Given the description of an element on the screen output the (x, y) to click on. 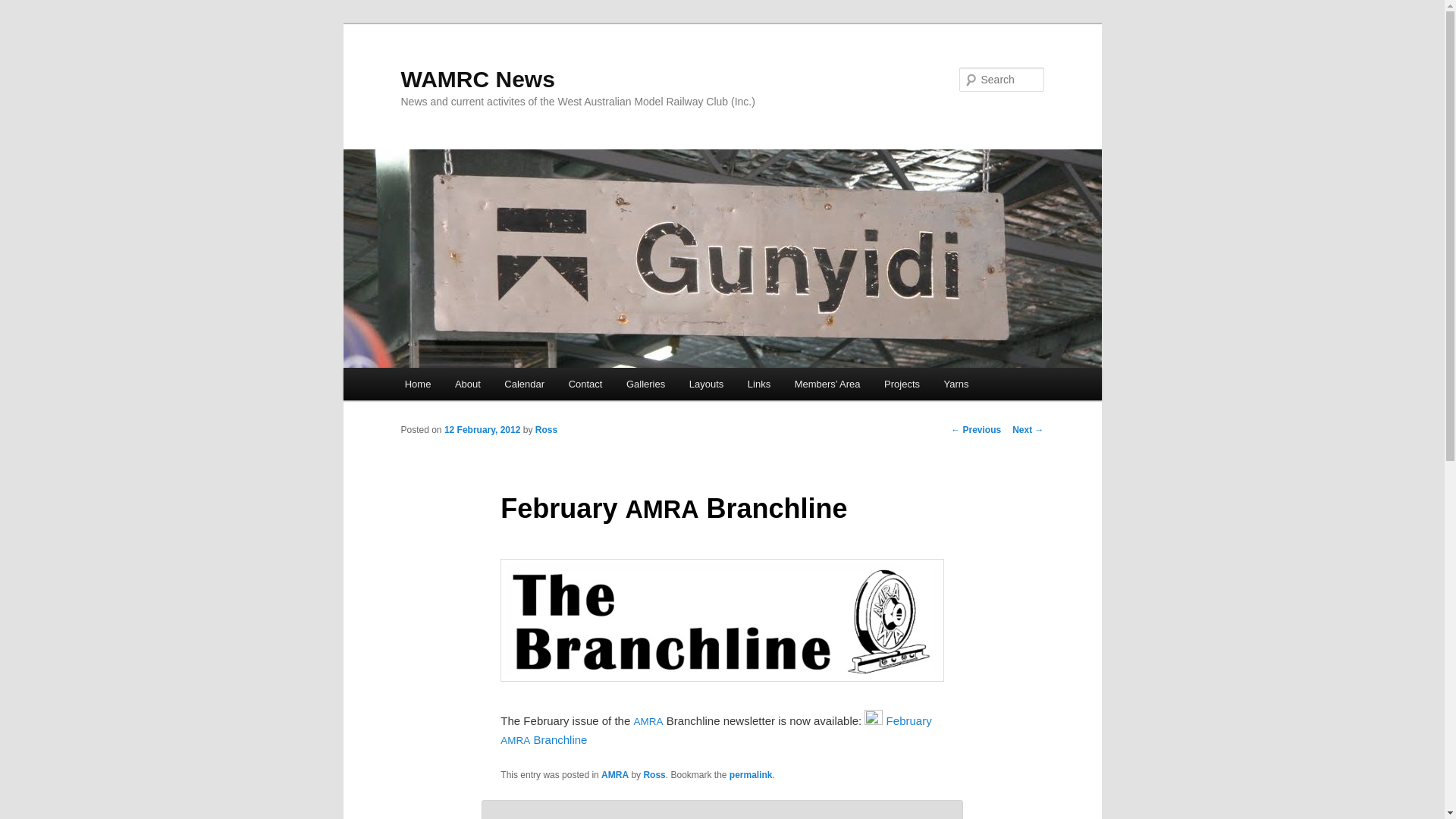
AMRA Branchline banner Element type: hover (721, 619)
Skip to primary content Element type: text (22, 22)
Ross Element type: text (546, 429)
AMRA Element type: text (614, 774)
Calendar Element type: text (524, 383)
Links Element type: text (758, 383)
Galleries Element type: text (645, 383)
Search Element type: text (24, 8)
Projects Element type: text (901, 383)
AMRA Element type: text (647, 720)
WAMRC News Element type: text (477, 78)
Layouts Element type: text (706, 383)
Home Element type: text (417, 383)
12 February, 2012 Element type: text (482, 429)
Contact Element type: text (585, 383)
Yarns Element type: text (956, 383)
Ross Element type: text (654, 774)
permalink Element type: text (750, 774)
February AMRA Branchline Element type: text (715, 729)
Acrobat icon Element type: hover (873, 716)
About Element type: text (467, 383)
